Given the description of an element on the screen output the (x, y) to click on. 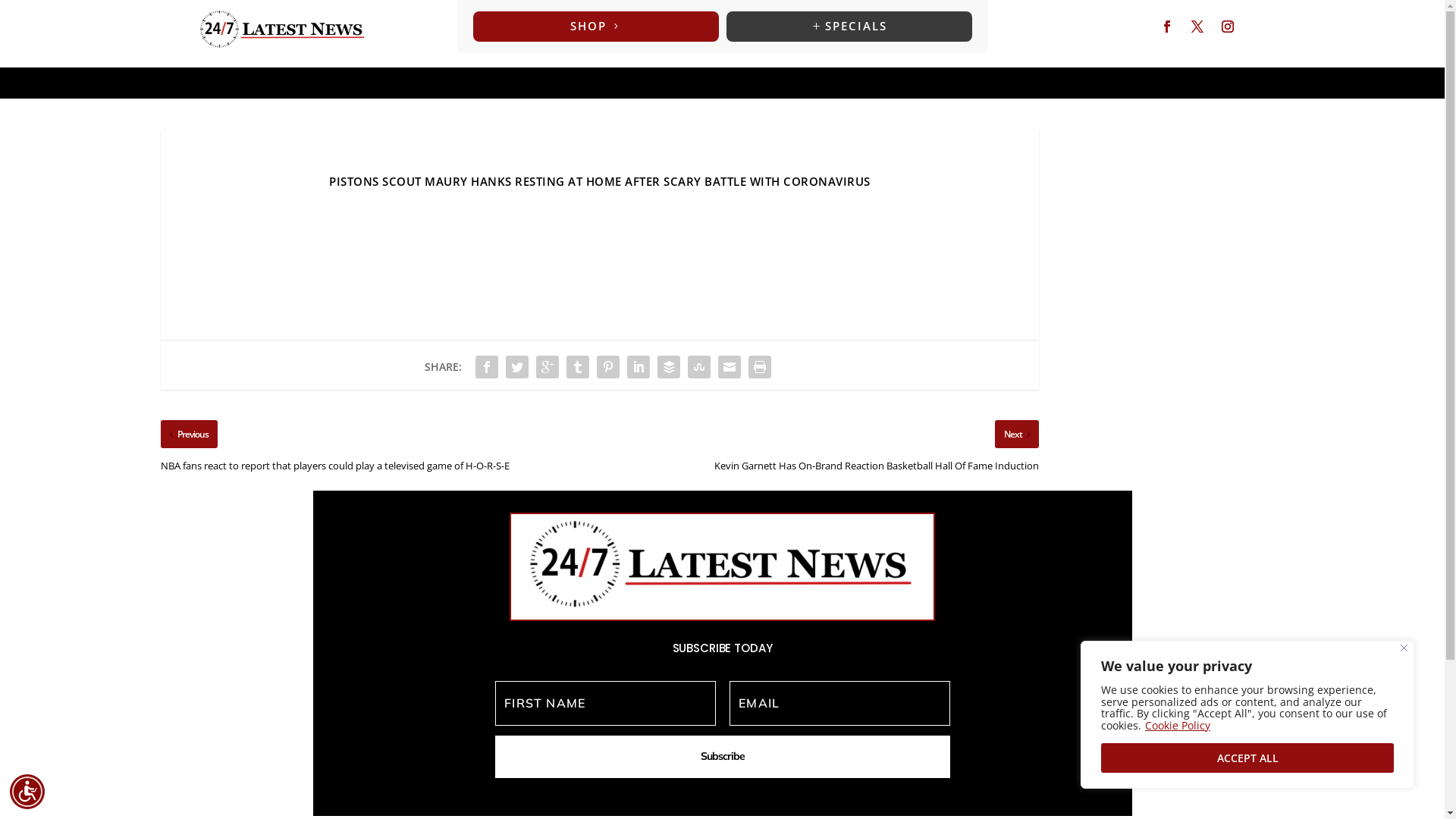
Follow on X Element type: hover (1197, 26)
Follow on Facebook Element type: hover (1166, 26)
24 7 Latest News Logo Element type: hover (282, 30)
SPECIALS Element type: text (849, 26)
SHOP Element type: text (595, 26)
24 7 Latest News Logo Element type: hover (722, 566)
Subscribe Element type: text (721, 756)
ACCEPT ALL Element type: text (1247, 757)
Follow on Instagram Element type: hover (1227, 26)
Cookie Policy Element type: text (1177, 725)
